Given the description of an element on the screen output the (x, y) to click on. 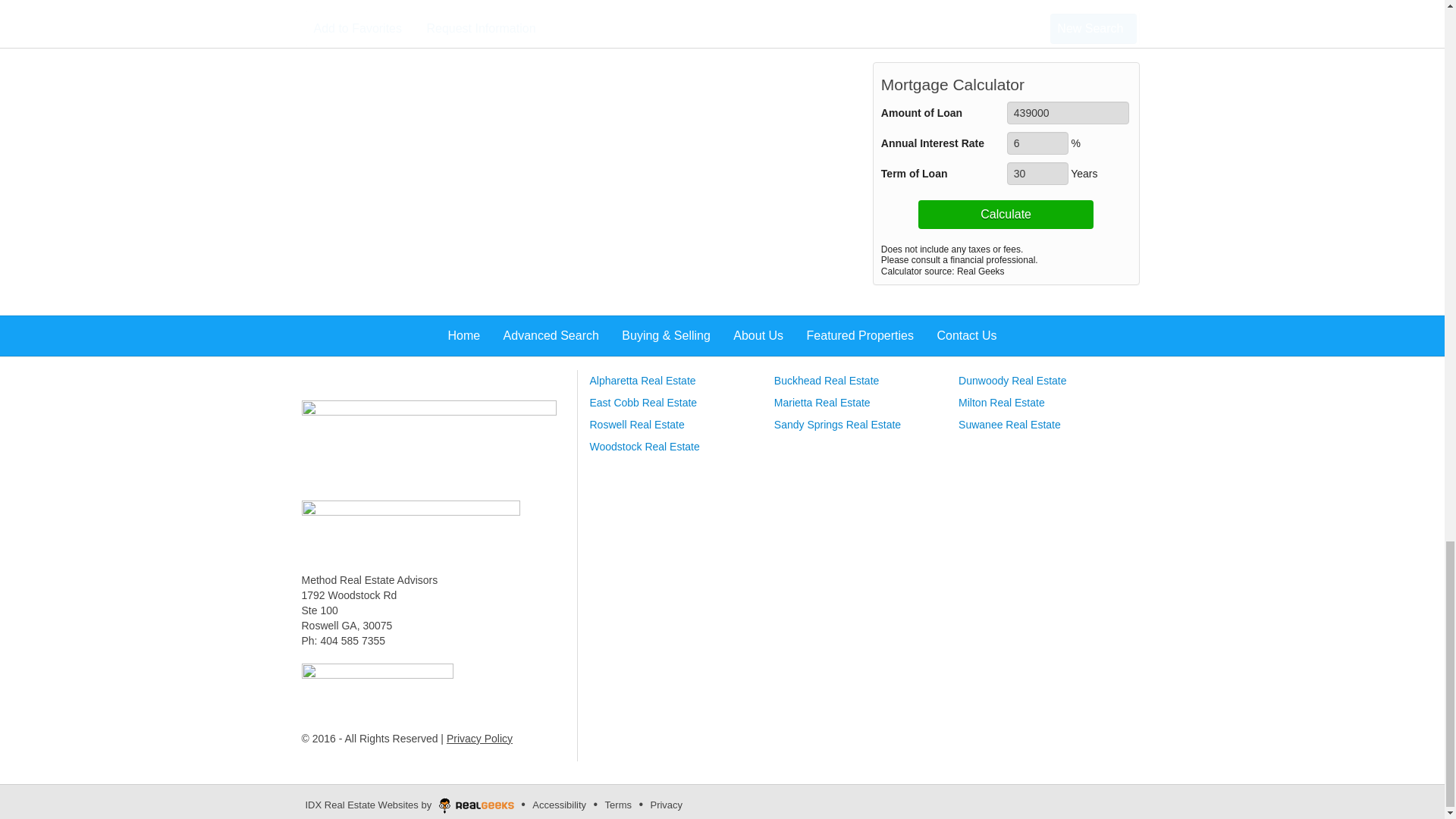
6 (1037, 142)
Advanced Search (428, 440)
30 (1037, 173)
439000 (1068, 112)
Privacy Policy for GeorgiaAR.com (479, 738)
